Given the description of an element on the screen output the (x, y) to click on. 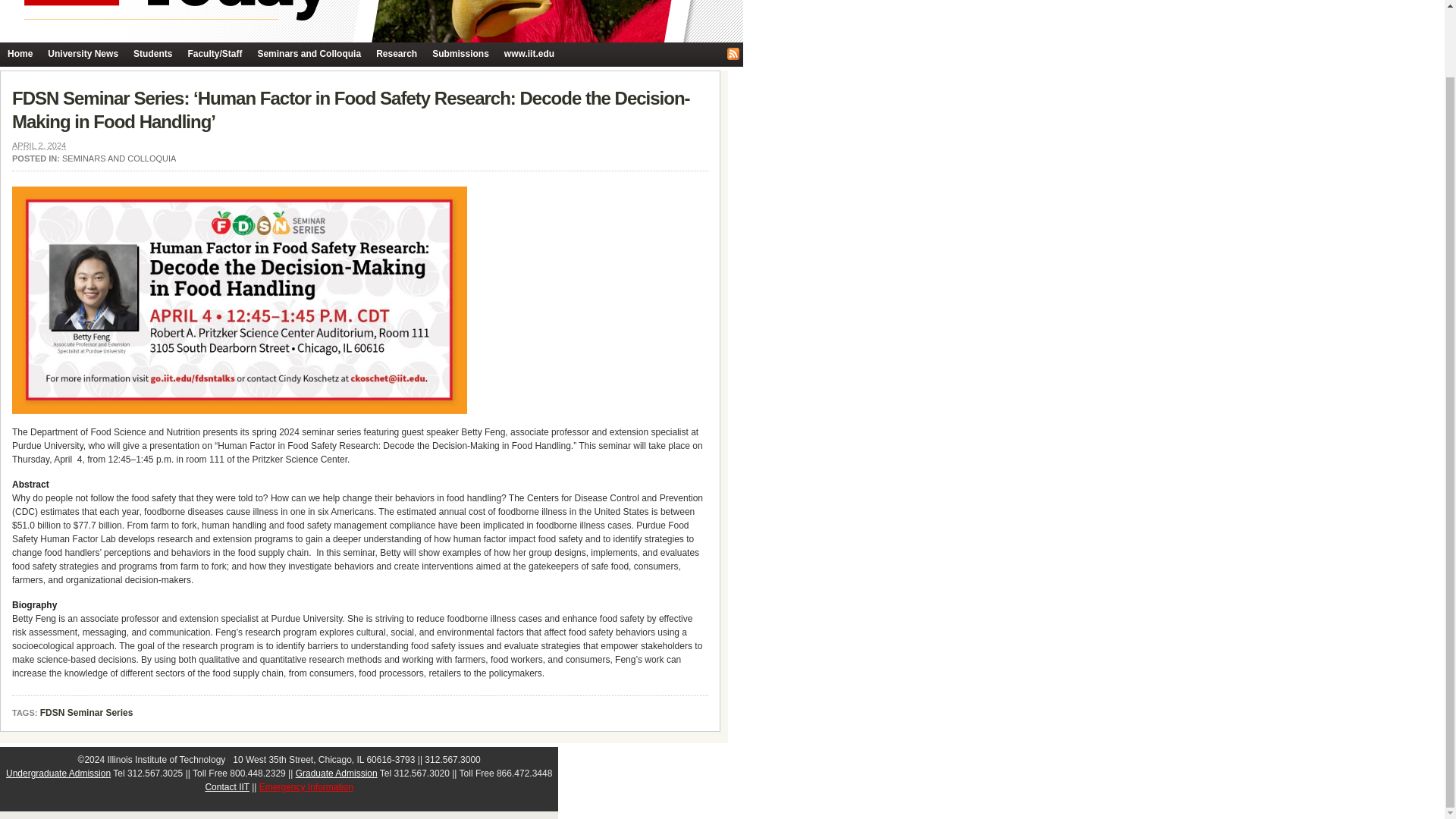
SEMINARS AND COLLOQUIA (119, 157)
2024-04-02T16:50:27-05:00 (38, 144)
Illinois Tech Today RSS Feed (732, 53)
Contact IIT (226, 787)
Home (20, 54)
FDSN Seminar Series (86, 713)
Graduate Admission (336, 773)
Students (152, 54)
Undergraduate Admission (57, 773)
Contact IIT (226, 787)
